Given the description of an element on the screen output the (x, y) to click on. 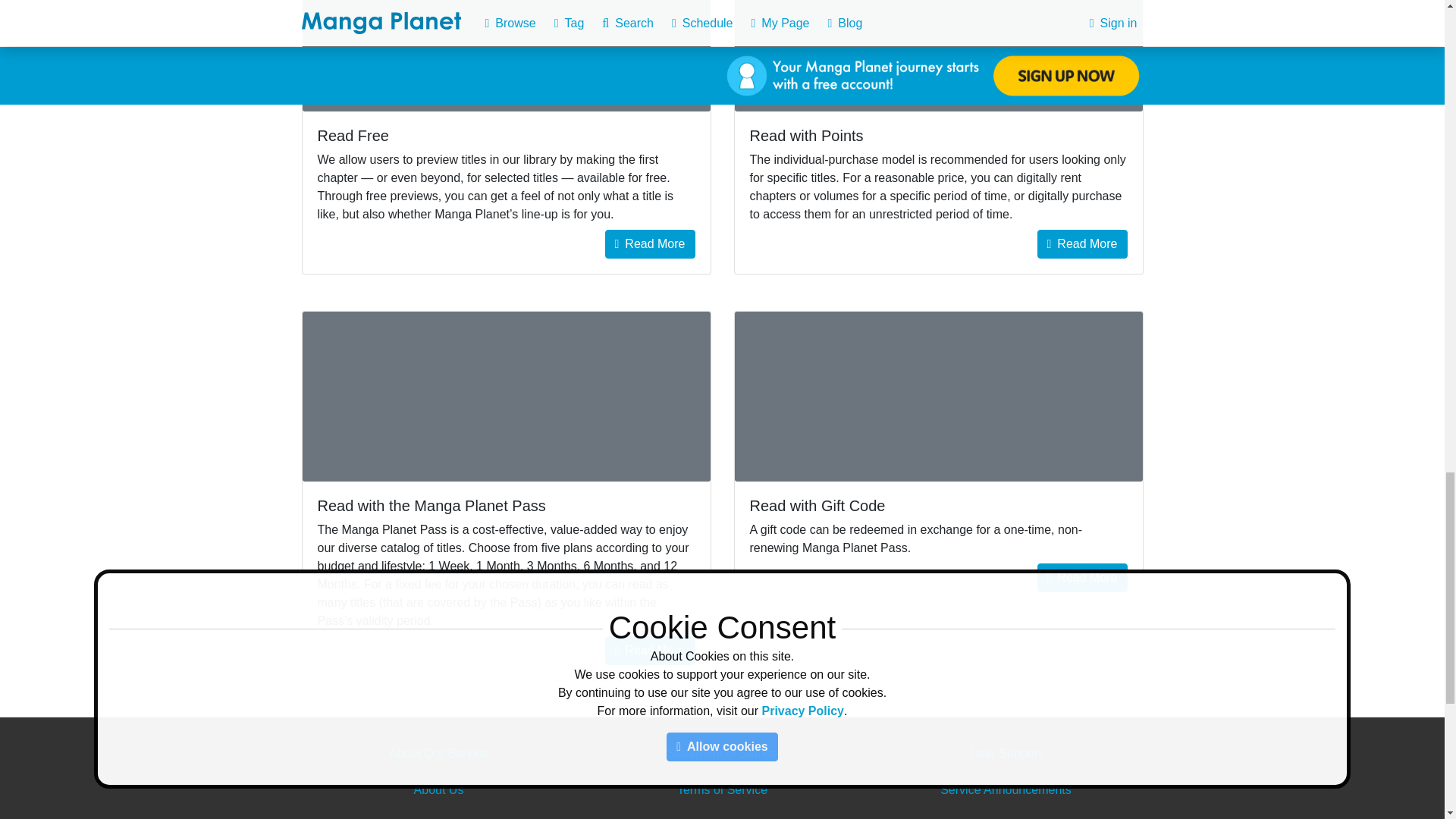
Read More (1081, 244)
About Us (438, 789)
Terms of Service (722, 789)
Statement of Stance (721, 753)
About Our Service (437, 753)
Service Announcements (1005, 789)
Read More (1081, 577)
User Support (1005, 753)
Read More (650, 244)
Read More (650, 650)
